Given the description of an element on the screen output the (x, y) to click on. 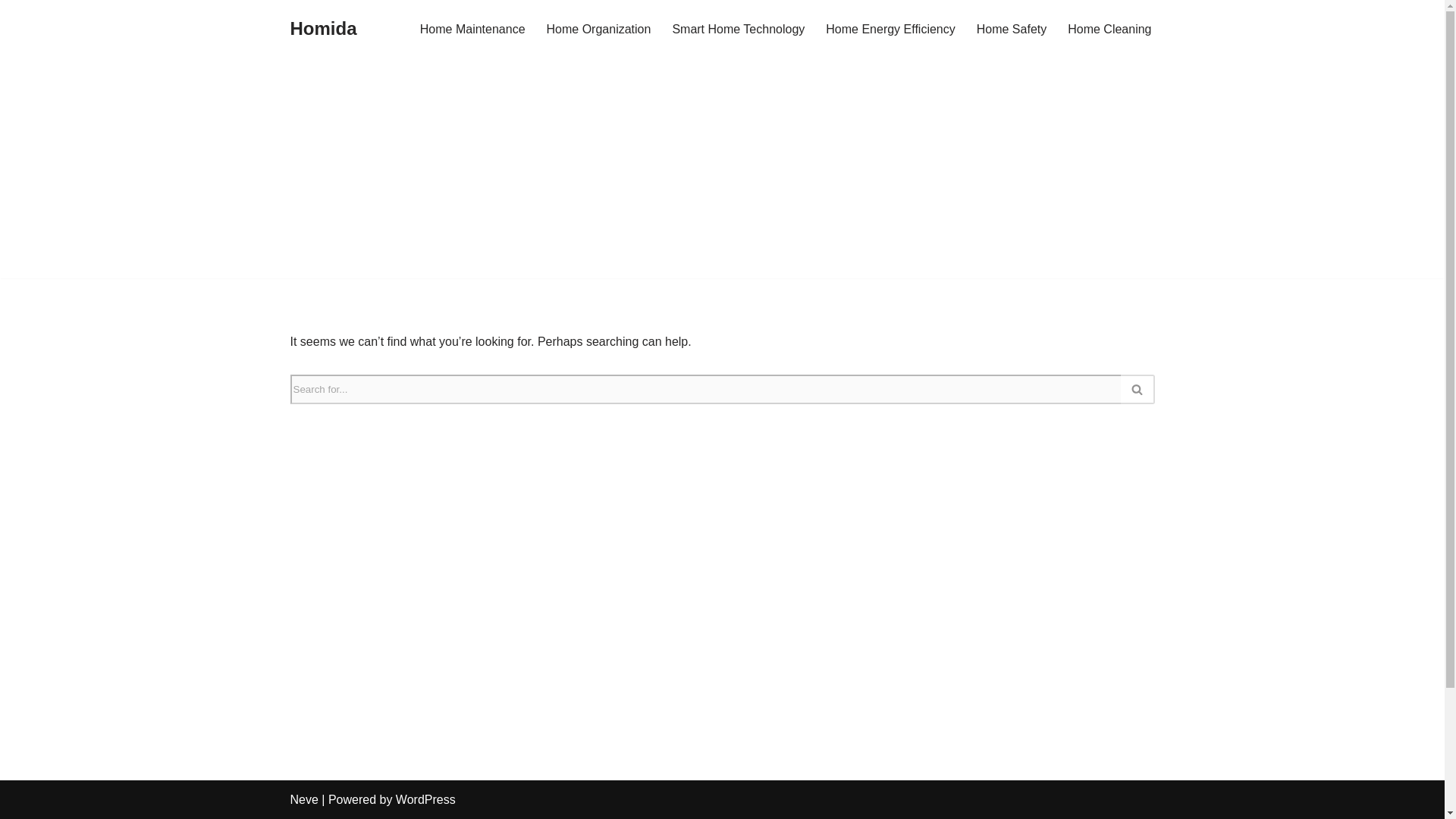
Skip to content (11, 31)
Home Cleaning (1109, 28)
Smart Home Technology (738, 28)
WordPress (425, 799)
Home Organization (598, 28)
Home Maintenance (472, 28)
Homida (322, 29)
Home Energy Efficiency (890, 28)
Neve (303, 799)
Home Safety (1011, 28)
